Given the description of an element on the screen output the (x, y) to click on. 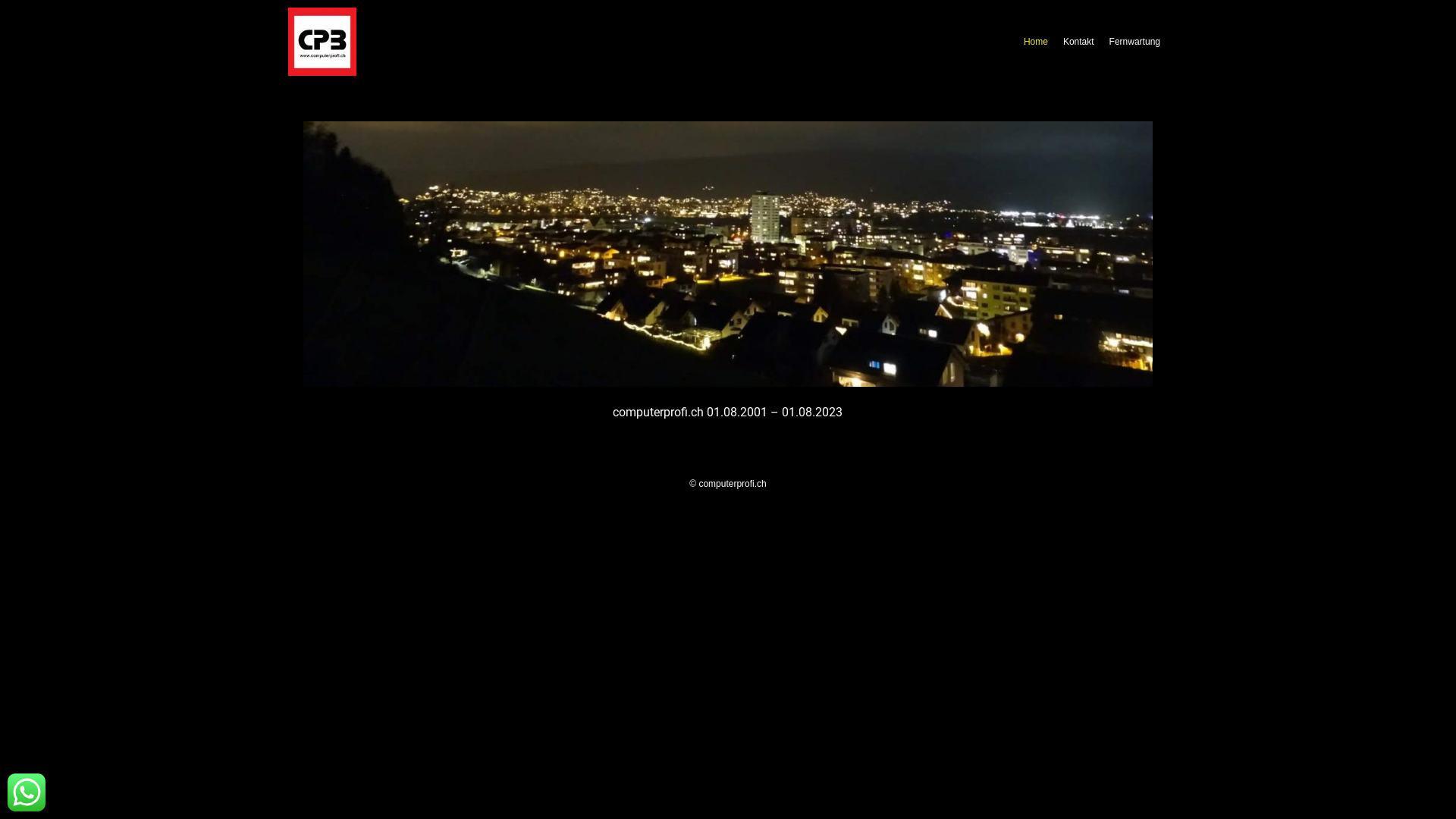
Home Element type: text (1035, 41)
Kontakt Element type: text (1078, 41)
CPB Element type: hover (727, 253)
Fernwartung Element type: text (1134, 41)
